Given the description of an element on the screen output the (x, y) to click on. 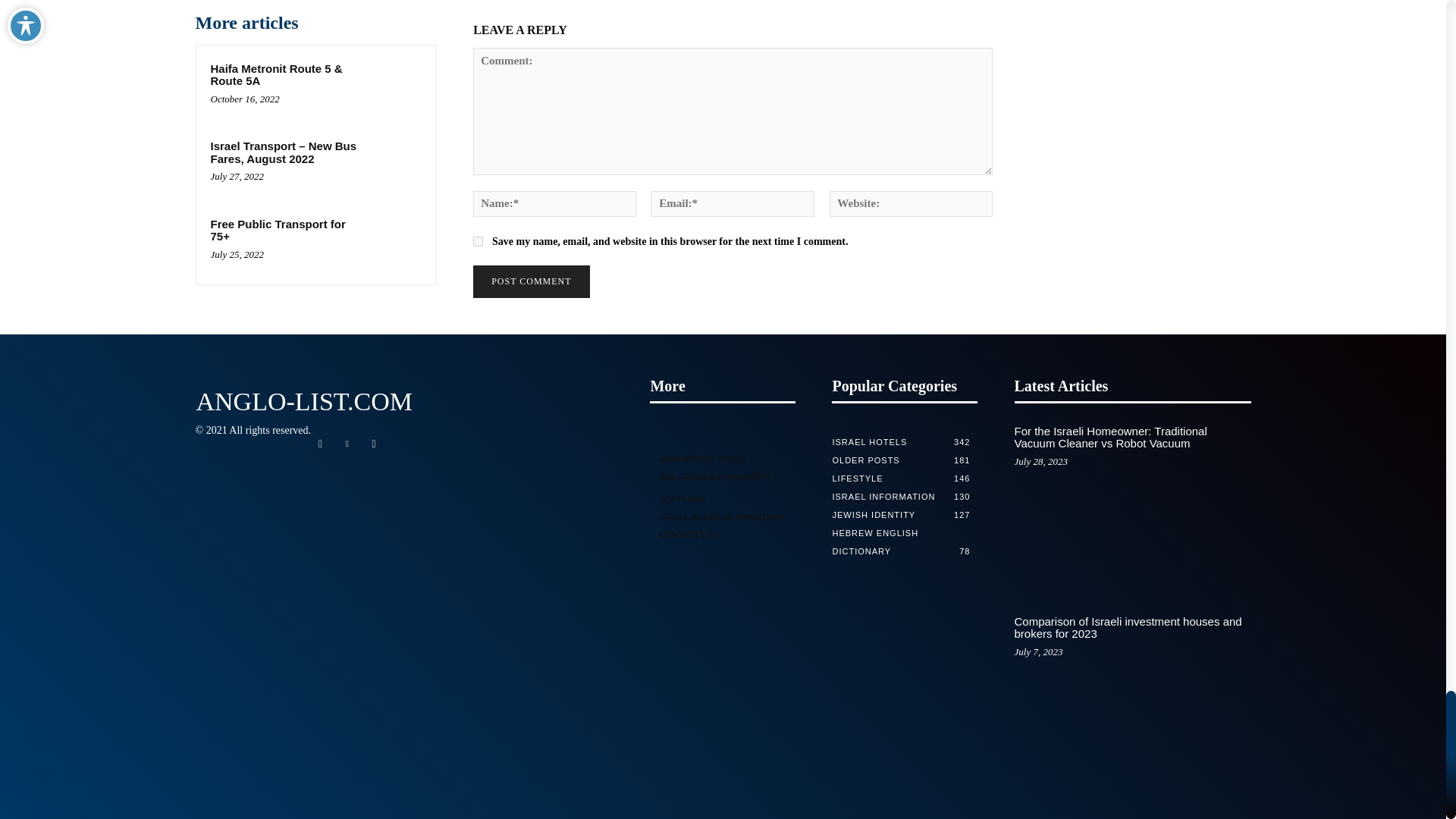
yes (478, 241)
Post Comment (531, 281)
